Given the description of an element on the screen output the (x, y) to click on. 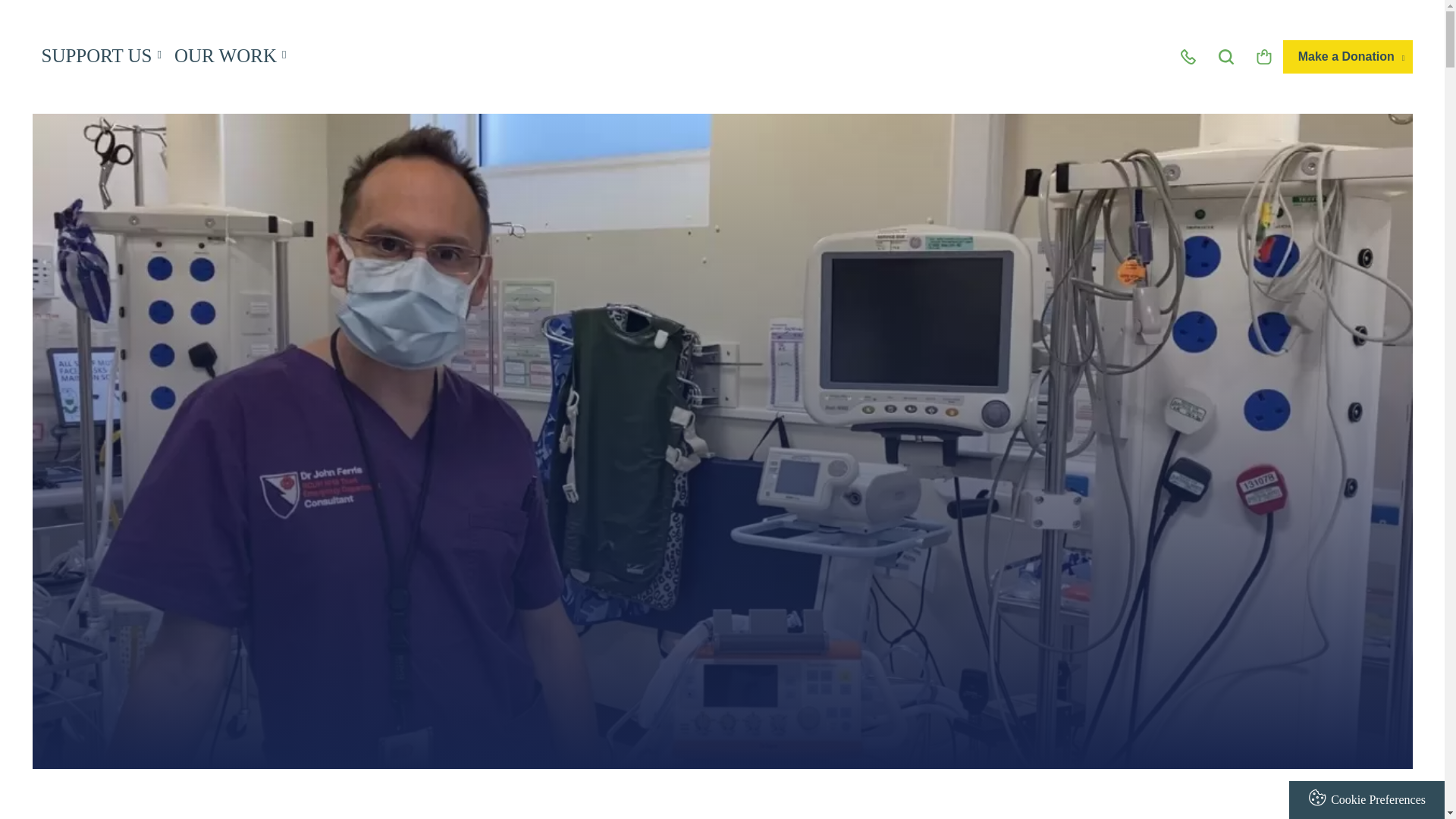
OUR WORK (227, 56)
SUPPORT US (98, 56)
Make a Donation (1347, 56)
